Given the description of an element on the screen output the (x, y) to click on. 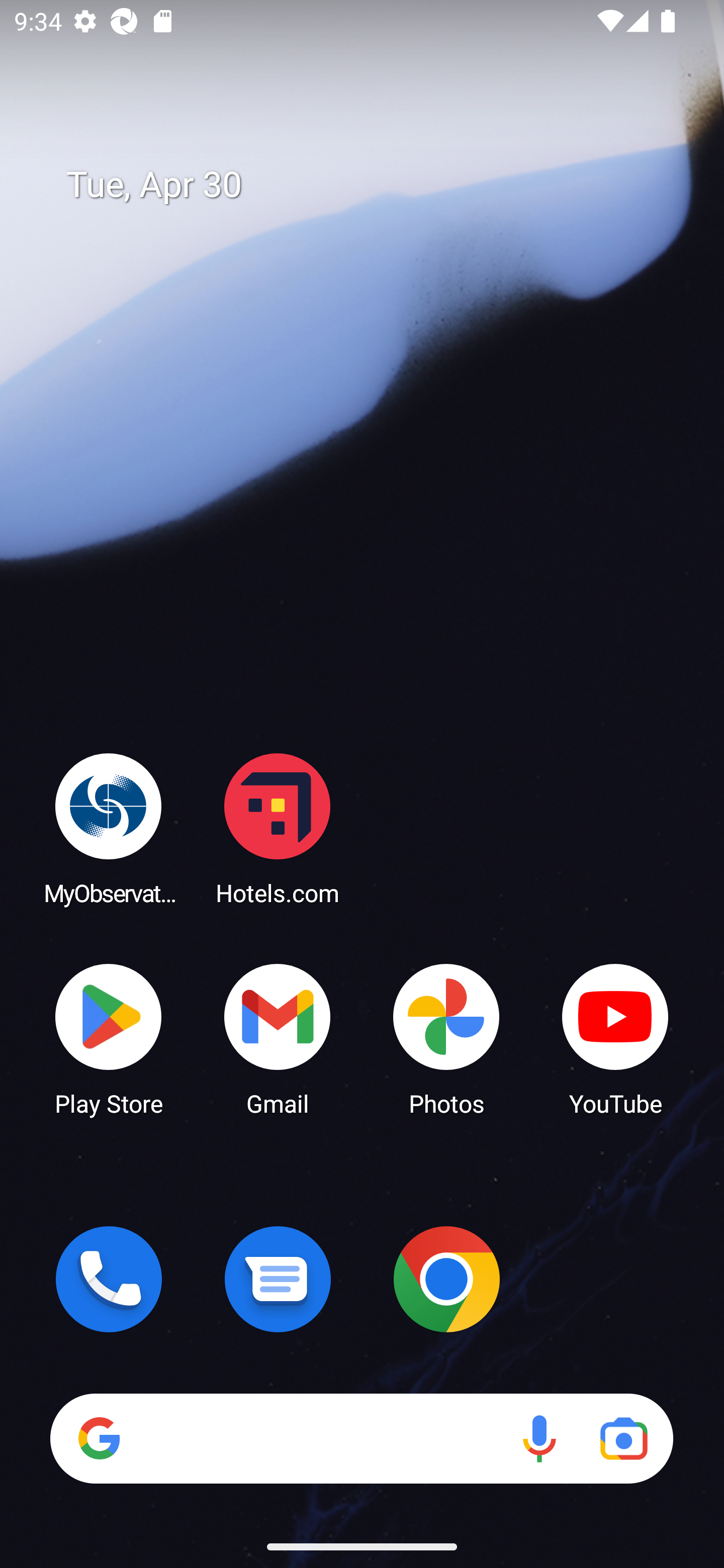
Tue, Apr 30 (375, 184)
MyObservatory (108, 828)
Hotels.com (277, 828)
Play Store (108, 1038)
Gmail (277, 1038)
Photos (445, 1038)
YouTube (615, 1038)
Phone (108, 1279)
Messages (277, 1279)
Chrome (446, 1279)
Voice search (539, 1438)
Google Lens (623, 1438)
